Given the description of an element on the screen output the (x, y) to click on. 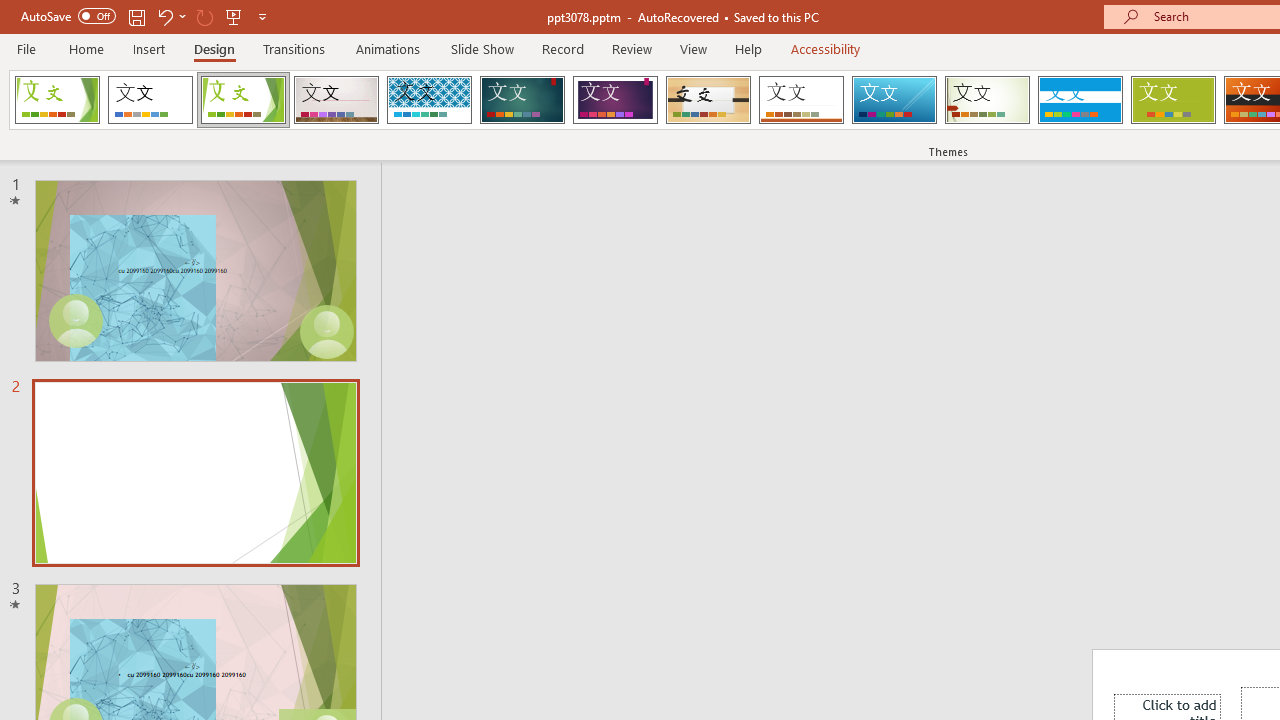
Slice (893, 100)
Banded (1080, 100)
Dividend (57, 100)
Ion (522, 100)
Office Theme (150, 100)
